Given the description of an element on the screen output the (x, y) to click on. 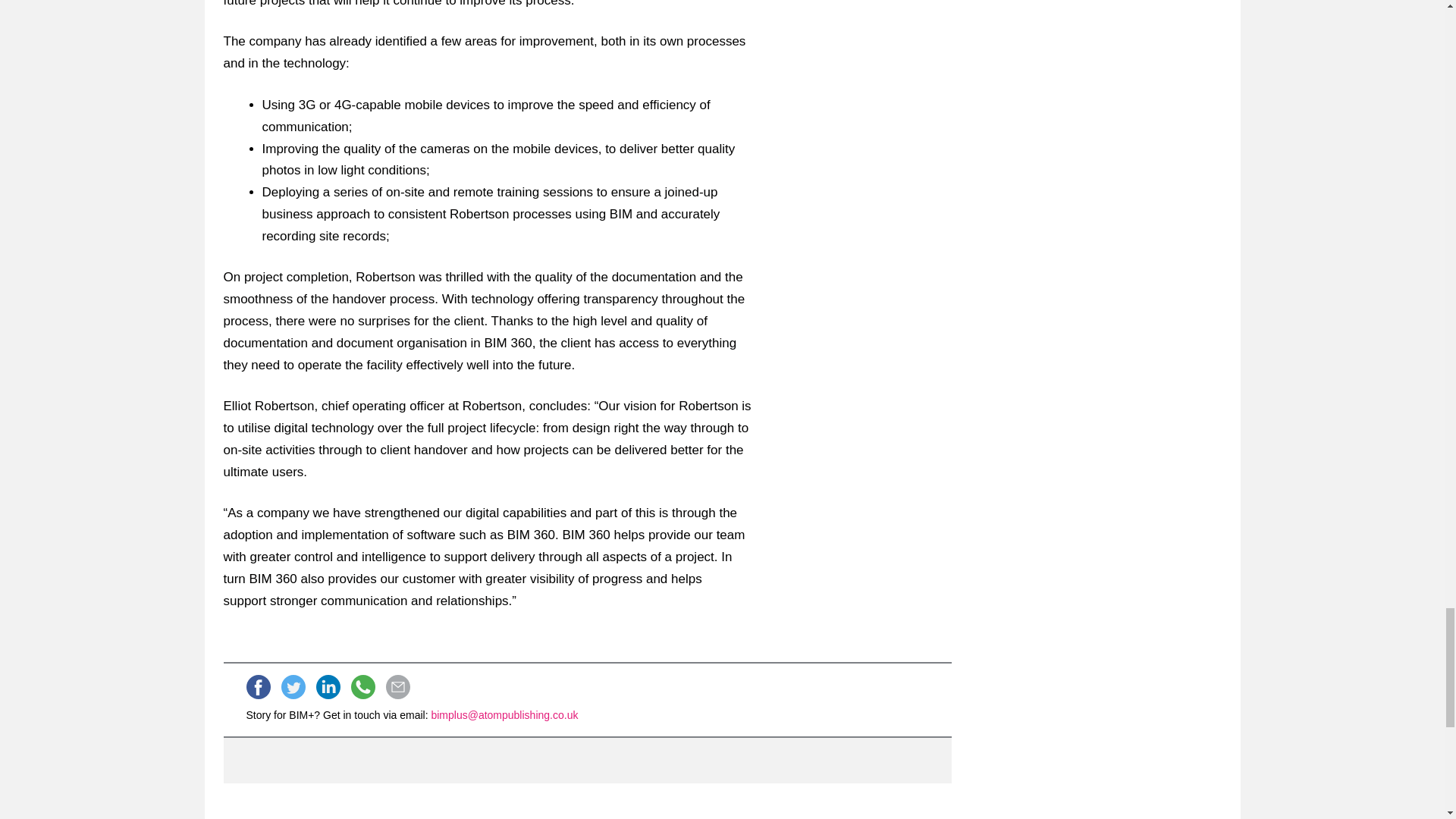
Send email (397, 686)
Share on Facebook (257, 686)
Share on WhatsApp (362, 686)
Share on LinkedIn (327, 686)
Tweet (292, 686)
